Given the description of an element on the screen output the (x, y) to click on. 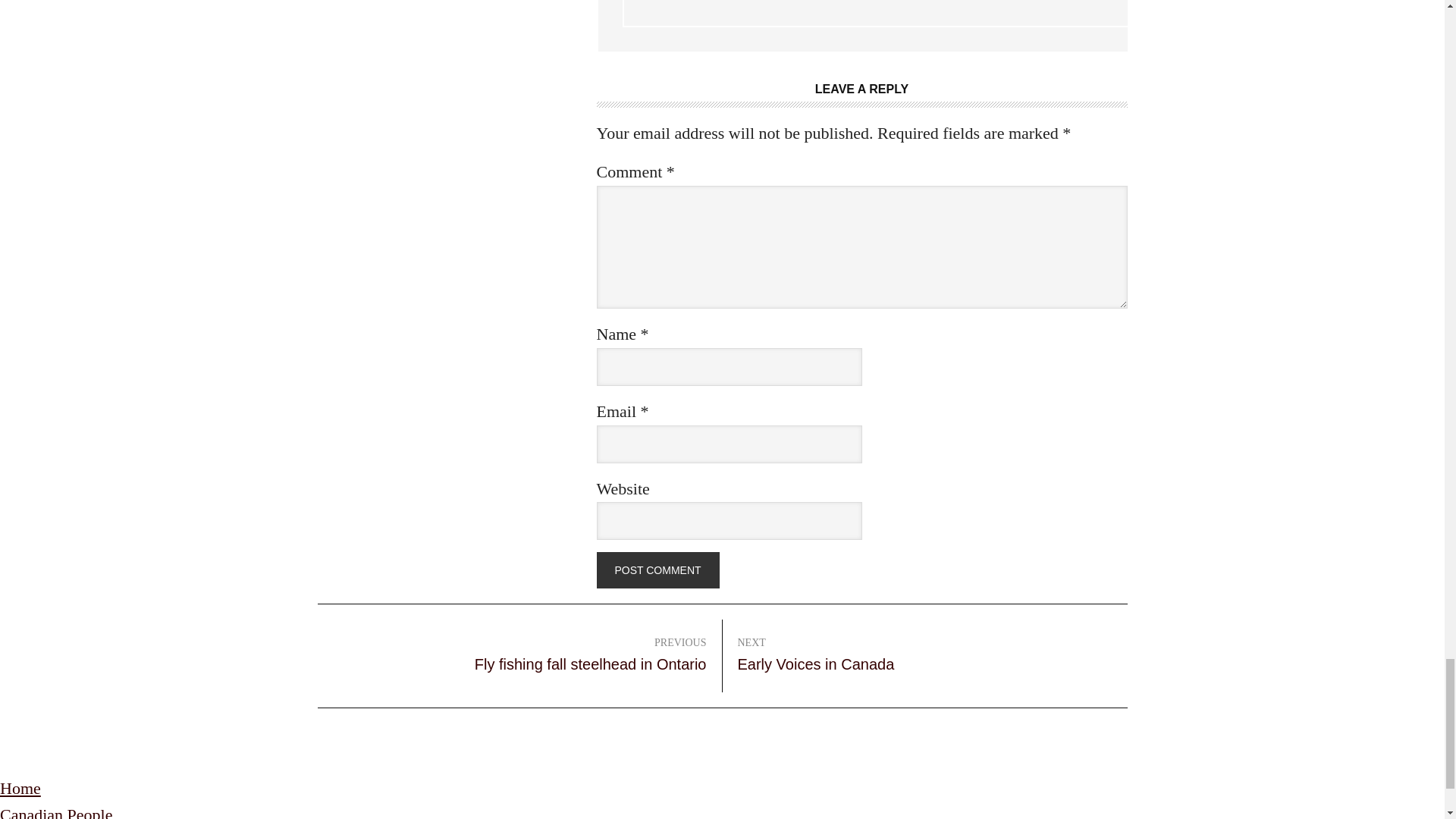
Post Comment (657, 570)
